Given the description of an element on the screen output the (x, y) to click on. 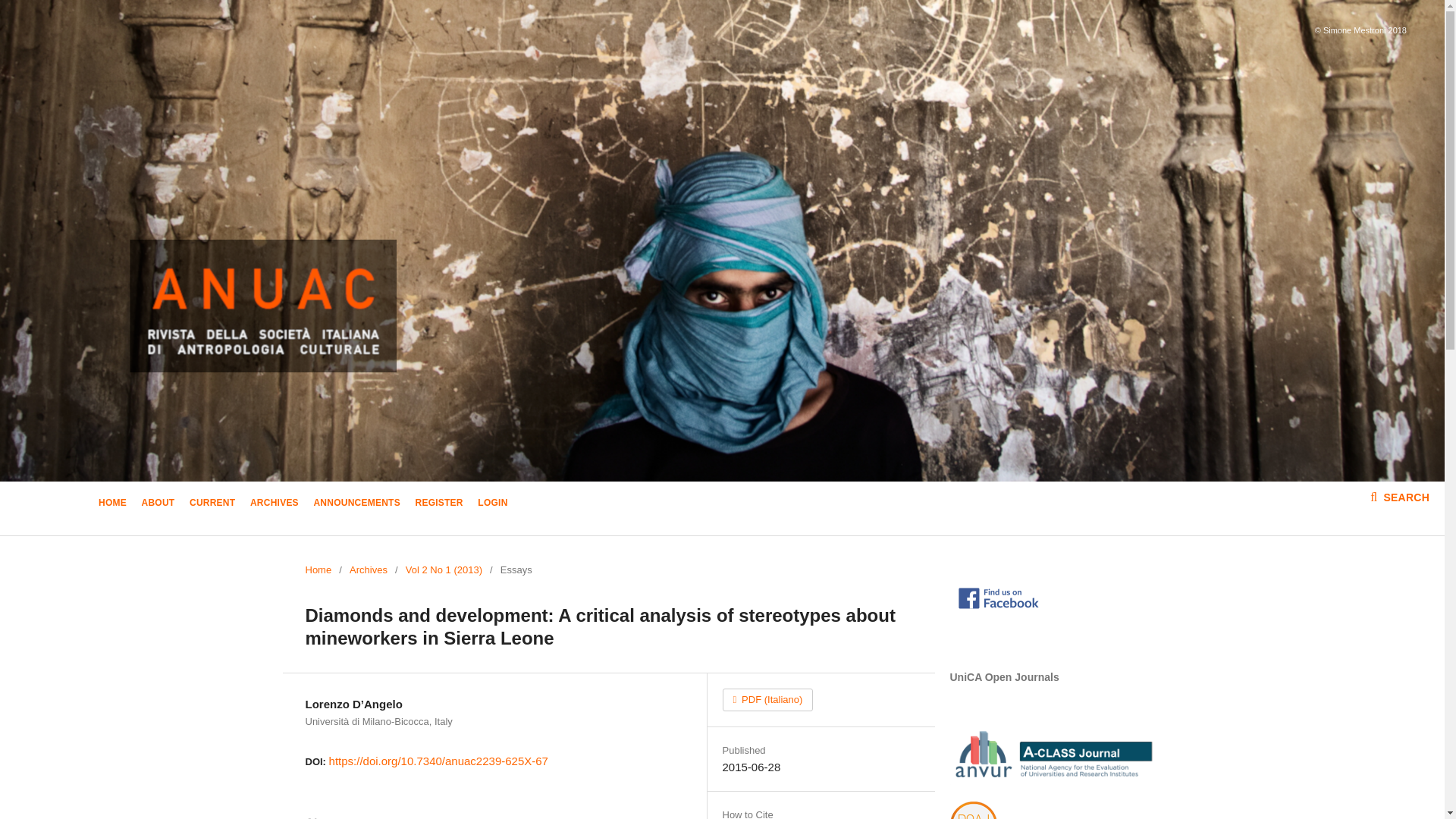
ARCHIVES (274, 502)
HOME (112, 502)
LOGIN (491, 502)
ANNOUNCEMENTS (355, 502)
Home (317, 570)
CURRENT (211, 502)
ABOUT (157, 502)
Archives (368, 570)
REGISTER (438, 502)
